Given the description of an element on the screen output the (x, y) to click on. 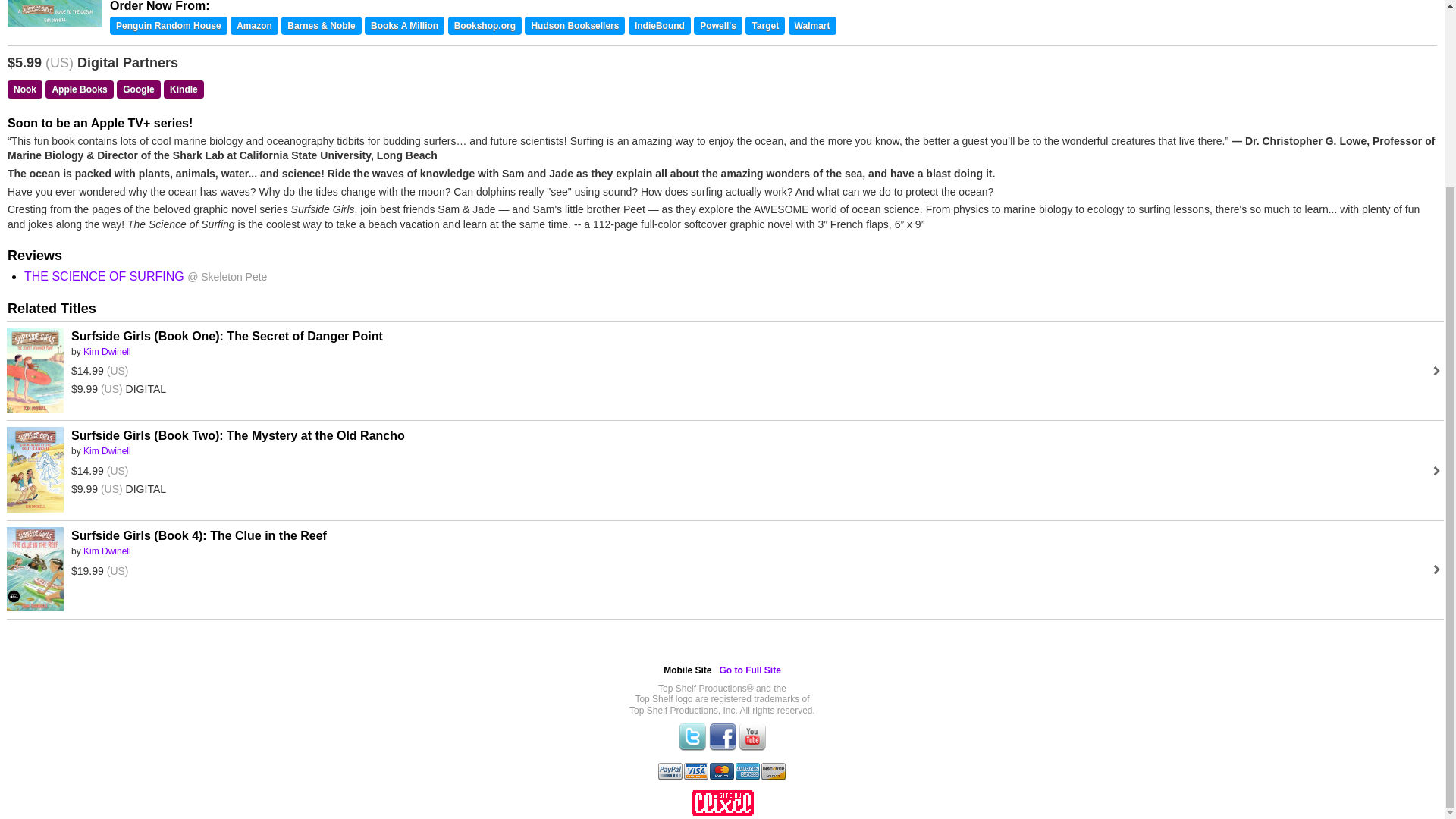
Penguin Random House (168, 25)
Books A Million (404, 25)
Nook (24, 89)
Kindle (183, 89)
Kim Dwinell (106, 450)
Bookshop.org (484, 25)
Powell's (718, 25)
Kim Dwinell (106, 351)
Target (764, 25)
IndieBound (659, 25)
Amazon (254, 25)
Apple Books (79, 89)
Friend Top Shelf on Facebook (721, 747)
Hudson Booksellers (574, 25)
Follow Top Shelf on Twitter (692, 747)
